Given the description of an element on the screen output the (x, y) to click on. 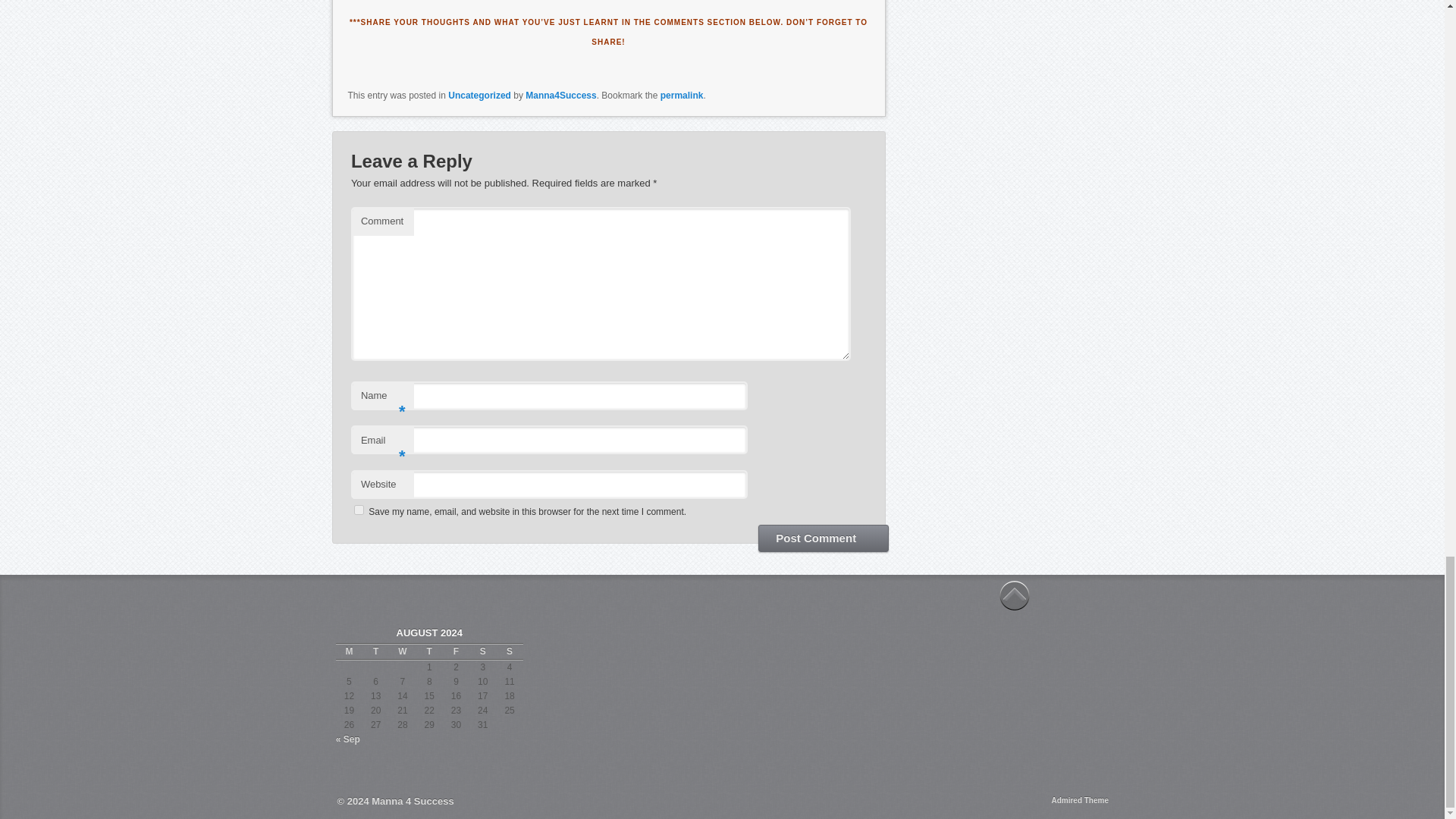
Uncategorized (479, 95)
Permalink to Will The Lord Be Pleased With Your Actions? (682, 95)
yes (358, 510)
Saturday (482, 651)
Monday (349, 651)
Post Comment (823, 538)
Manna4Success (560, 95)
Friday (455, 651)
Manna 4 Success (411, 800)
Wednesday (401, 651)
Thursday (429, 651)
Tuesday (375, 651)
Sunday (509, 651)
Post Comment (823, 538)
permalink (682, 95)
